Given the description of an element on the screen output the (x, y) to click on. 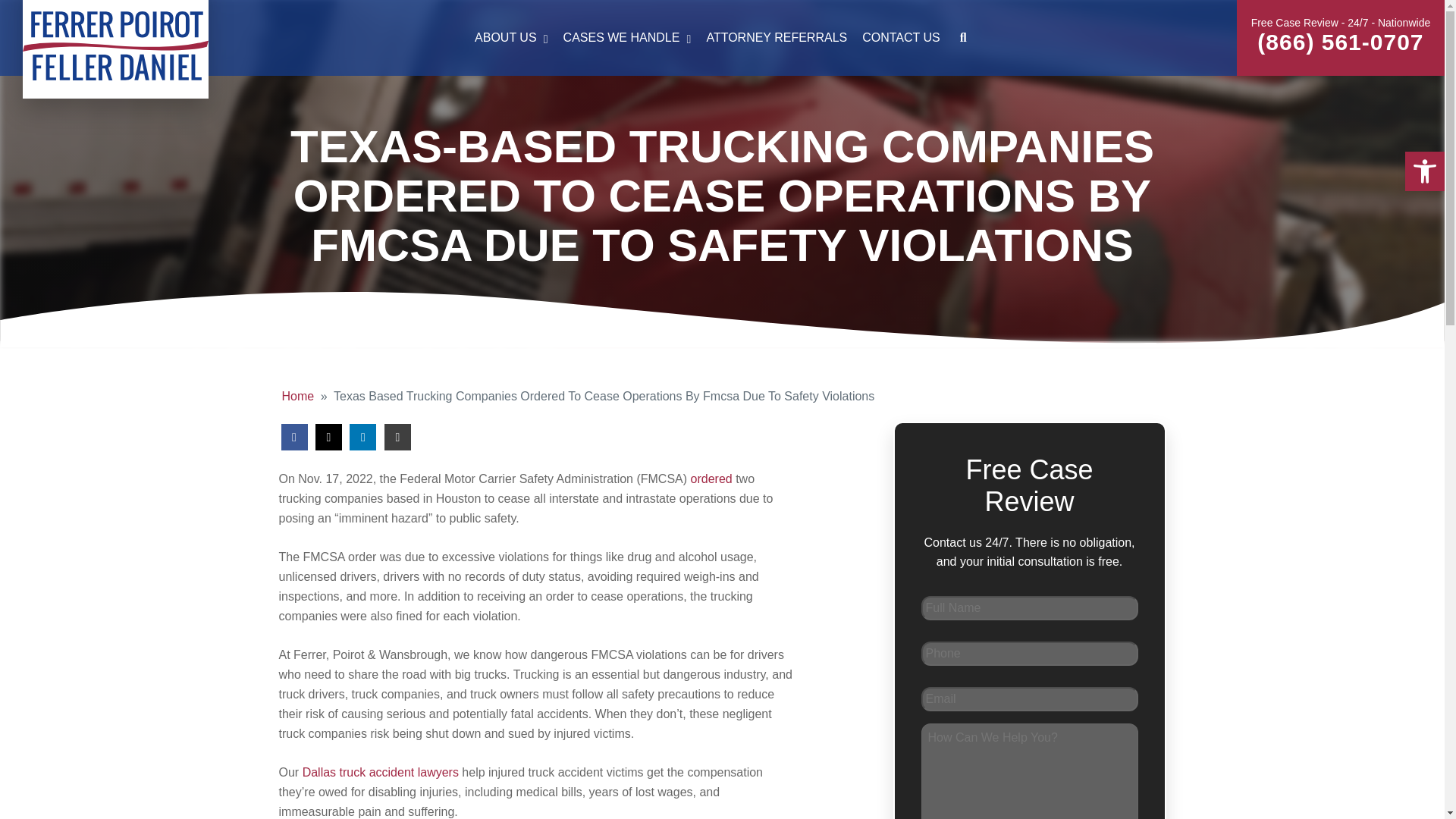
Accessibility Tools (722, 37)
